Given the description of an element on the screen output the (x, y) to click on. 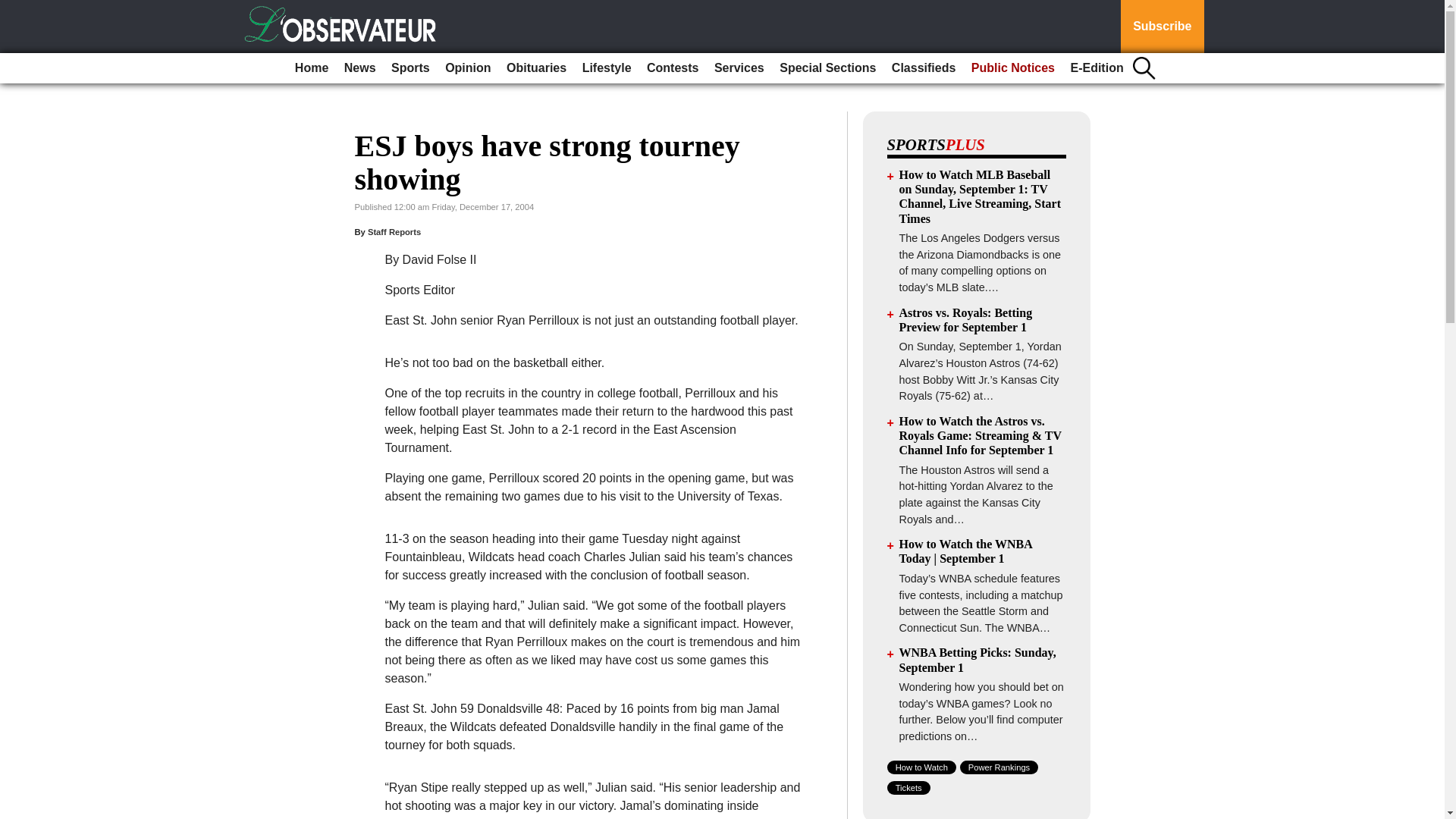
Sports (410, 68)
Power Rankings (999, 766)
Lifestyle (606, 68)
Subscribe (1162, 26)
Staff Reports (394, 231)
WNBA Betting Picks: Sunday, September 1 (978, 659)
Tickets (908, 787)
Contests (672, 68)
Classifieds (922, 68)
